Given the description of an element on the screen output the (x, y) to click on. 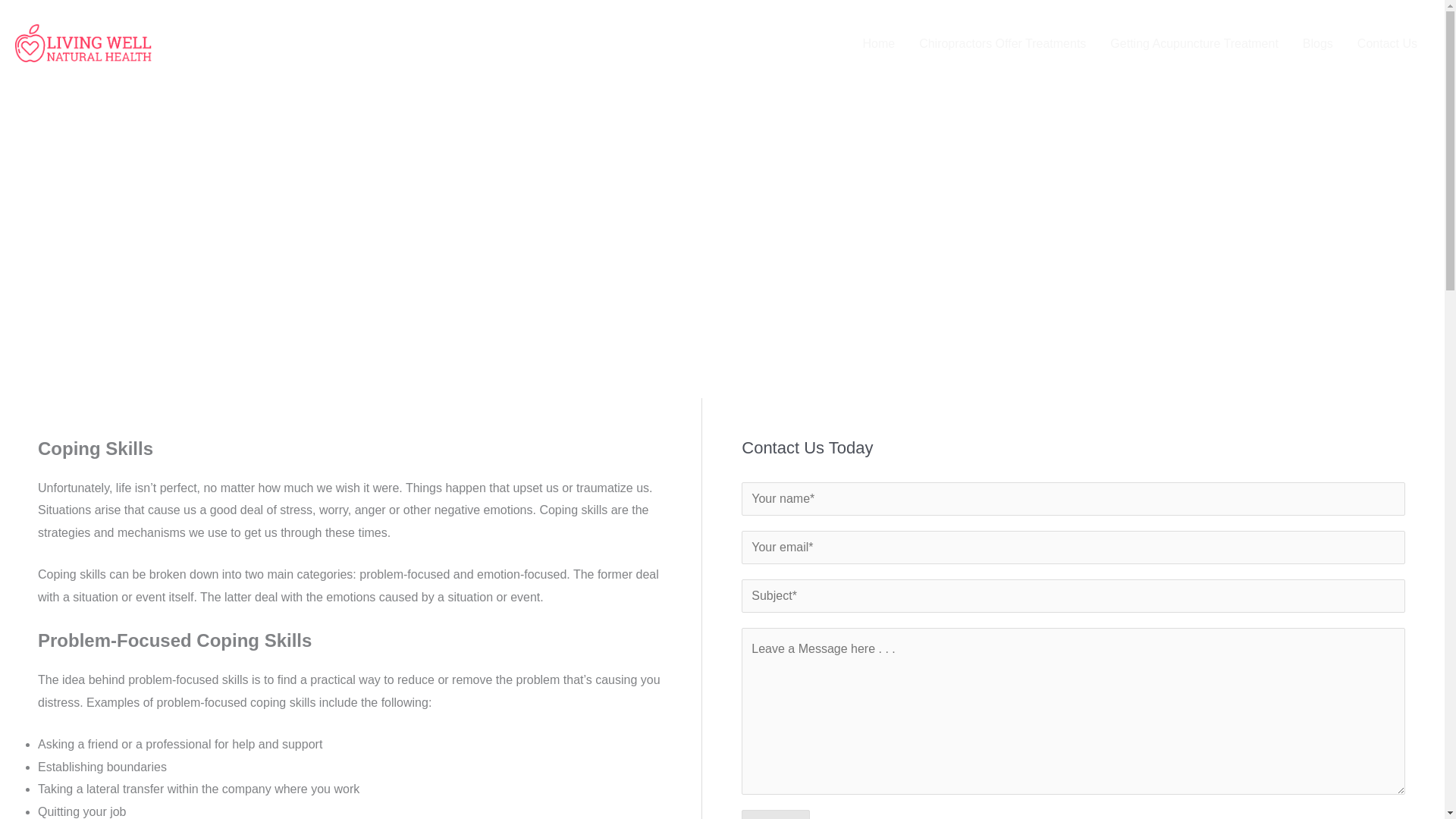
Getting Acupuncture Treatment (1193, 43)
Contact Us (1387, 43)
Submit (775, 814)
Home (878, 43)
Chiropractors Offer Treatments (1002, 43)
Blogs (1317, 43)
